Given the description of an element on the screen output the (x, y) to click on. 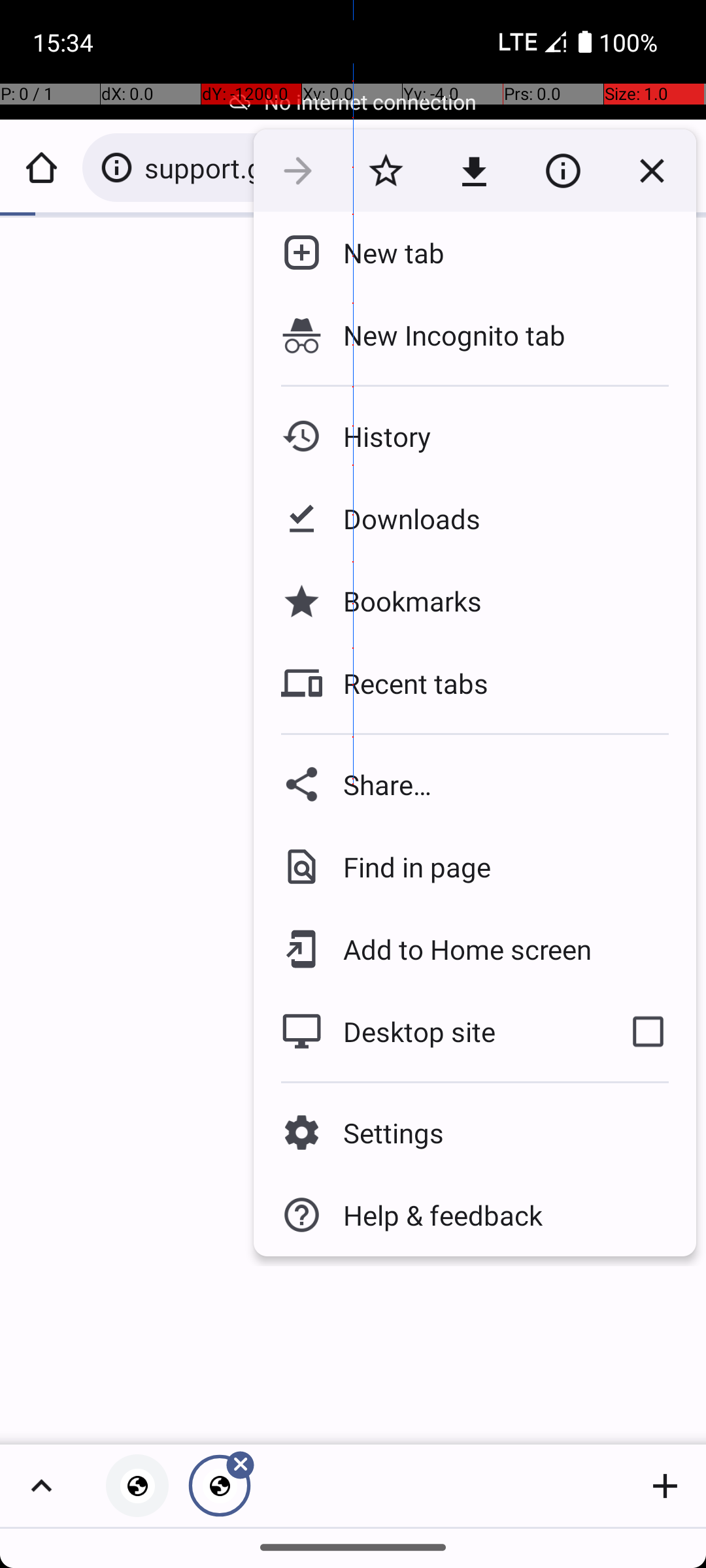
Forward Element type: android.widget.ImageButton (297, 170)
Bookmark Element type: android.widget.ImageButton (385, 170)
Page info Element type: android.widget.ImageButton (562, 170)
Stop refreshing Element type: android.widget.ImageButton (651, 170)
New tab Element type: android.widget.TextView (383, 252)
New Incognito tab Element type: android.widget.TextView (474, 335)
Bookmarks Element type: android.widget.TextView (401, 600)
Recent tabs Element type: android.widget.TextView (405, 683)
Share… Element type: android.widget.TextView (474, 784)
Find in page Element type: android.widget.TextView (406, 866)
Add to Home screen Element type: android.widget.TextView (457, 949)
Desktop site Element type: android.widget.TextView (426, 1031)
